Given the description of an element on the screen output the (x, y) to click on. 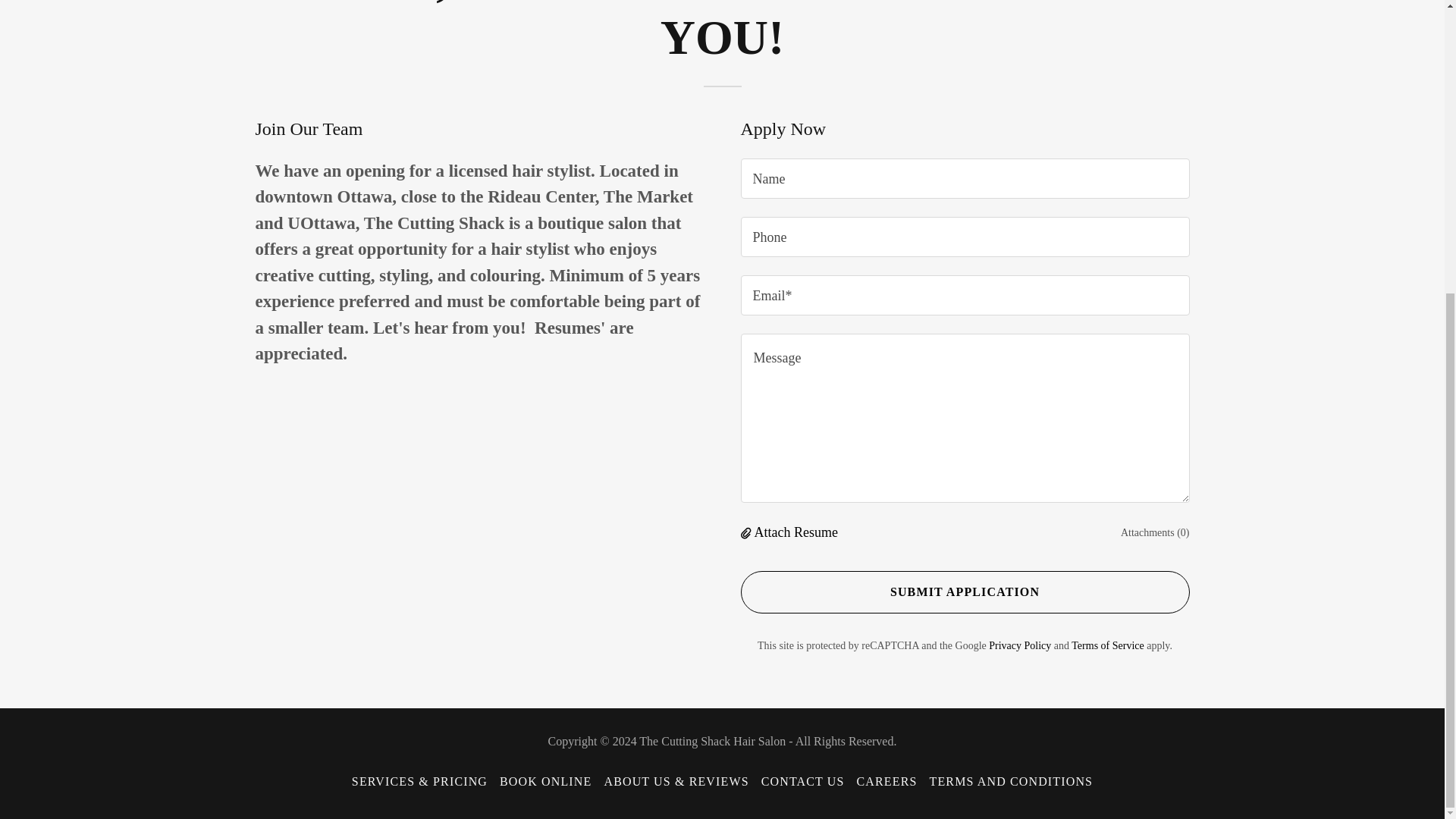
Privacy Policy (1019, 645)
Terms of Service (1106, 645)
SUBMIT APPLICATION (964, 591)
